Given the description of an element on the screen output the (x, y) to click on. 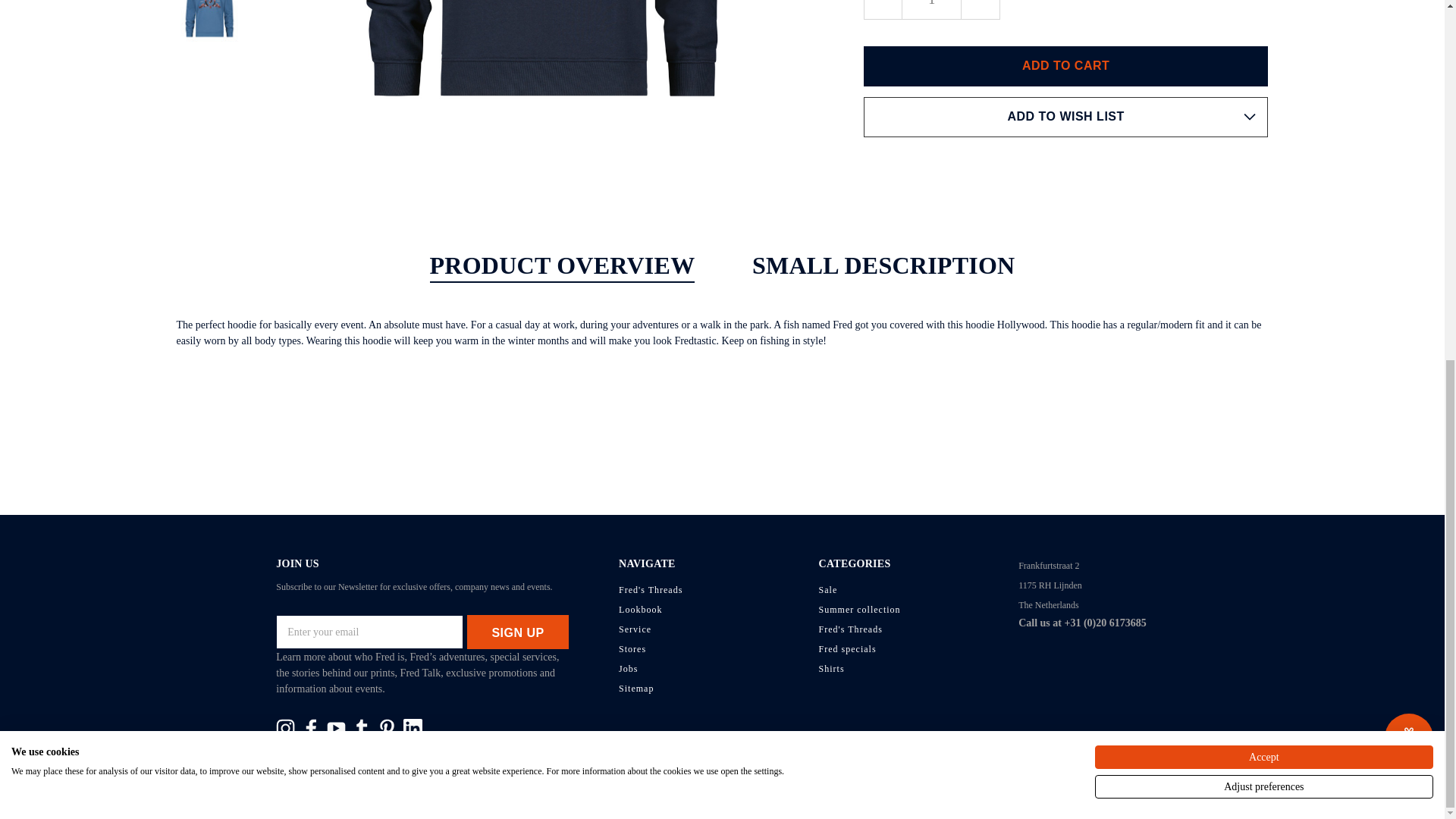
1 (931, 9)
Sign Up (518, 632)
Hoodie hollywood (542, 73)
Add to Cart (1065, 65)
Hoodie hollywood (209, 21)
